Given the description of an element on the screen output the (x, y) to click on. 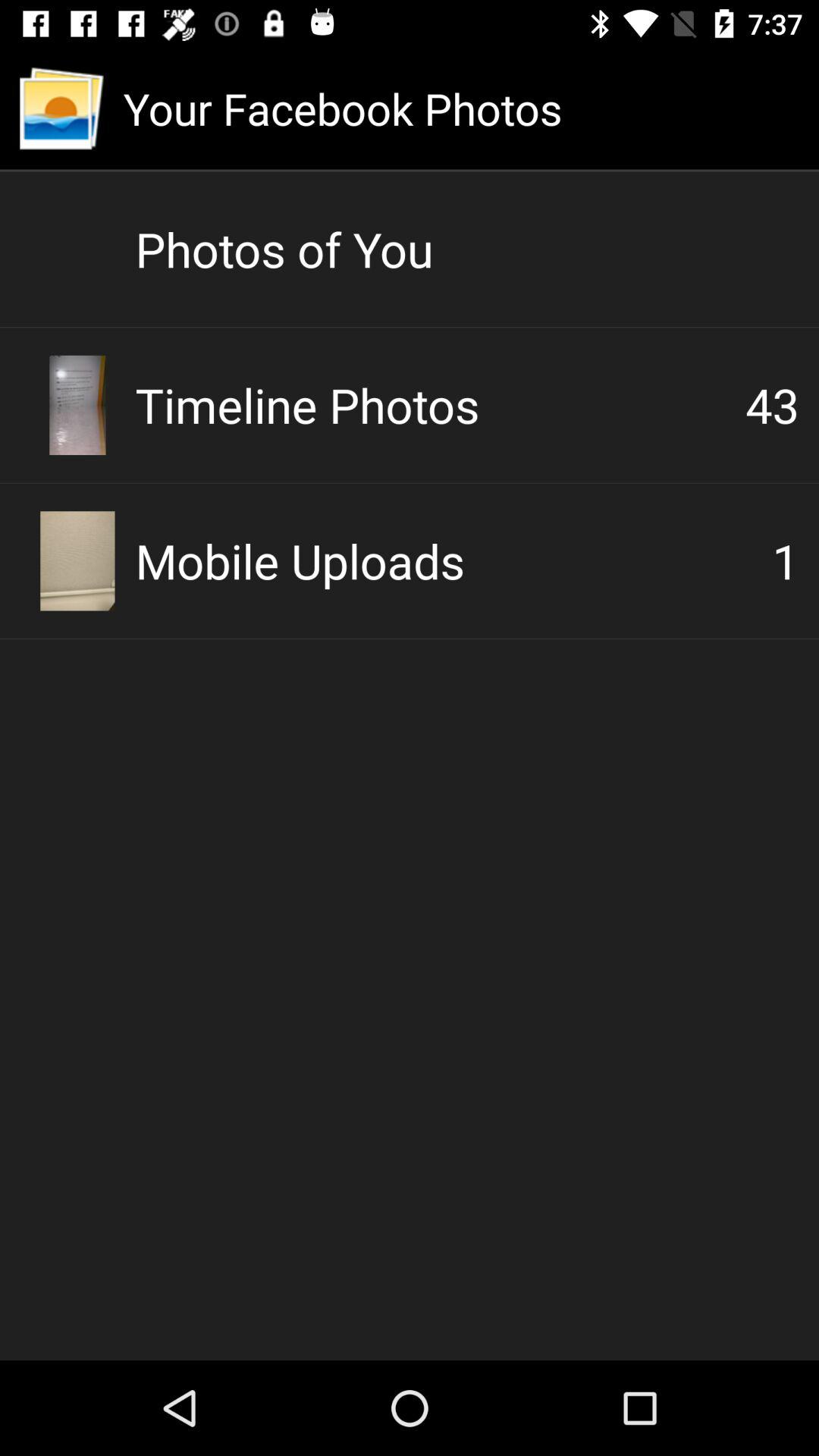
turn off the item below the photos of you icon (440, 404)
